Given the description of an element on the screen output the (x, y) to click on. 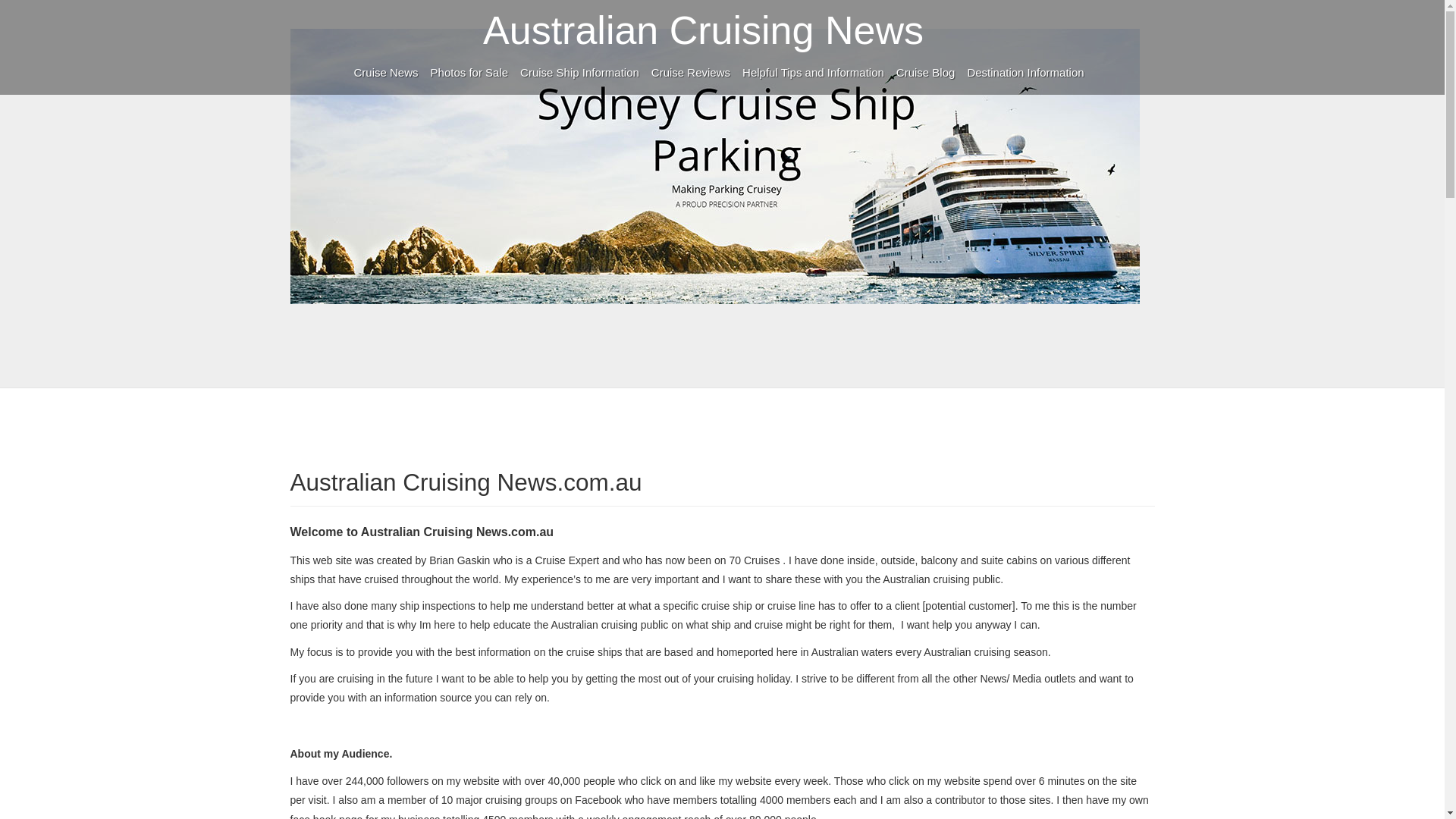
Cruise Reviews (690, 72)
Cruise Blog (924, 72)
Helpful Tips and Information (812, 72)
Cruise Ship Information (579, 72)
Cruise News (385, 72)
Australian Cruising News (706, 30)
Destination Information (1024, 72)
Photos for Sale (470, 72)
